Given the description of an element on the screen output the (x, y) to click on. 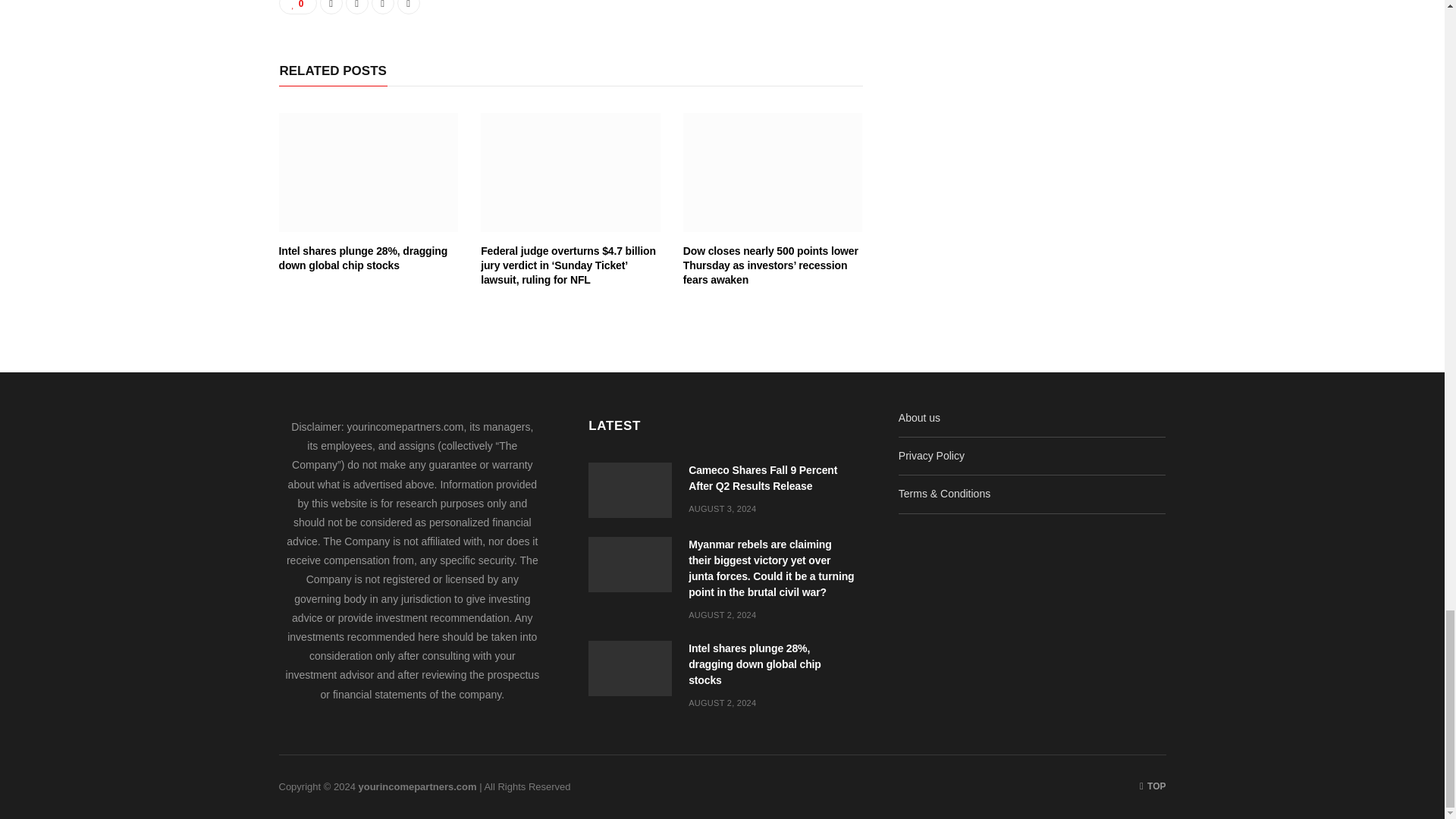
0 (298, 7)
